Given the description of an element on the screen output the (x, y) to click on. 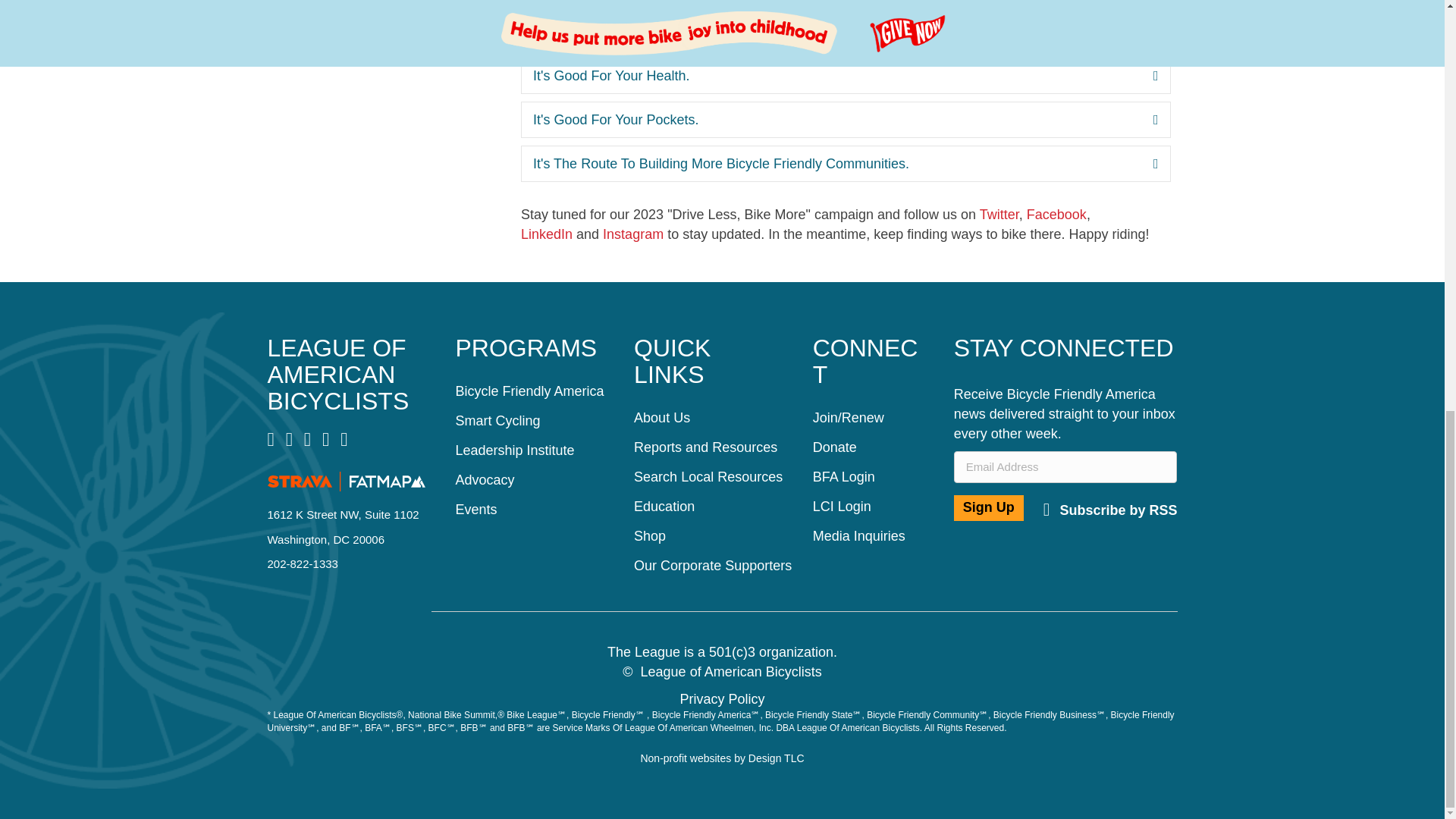
Click Here (1110, 509)
Sign Up (988, 507)
Strava-FATMAP-OrangeWhite-RGB (345, 481)
League of American Bicyclists (337, 374)
